Given the description of an element on the screen output the (x, y) to click on. 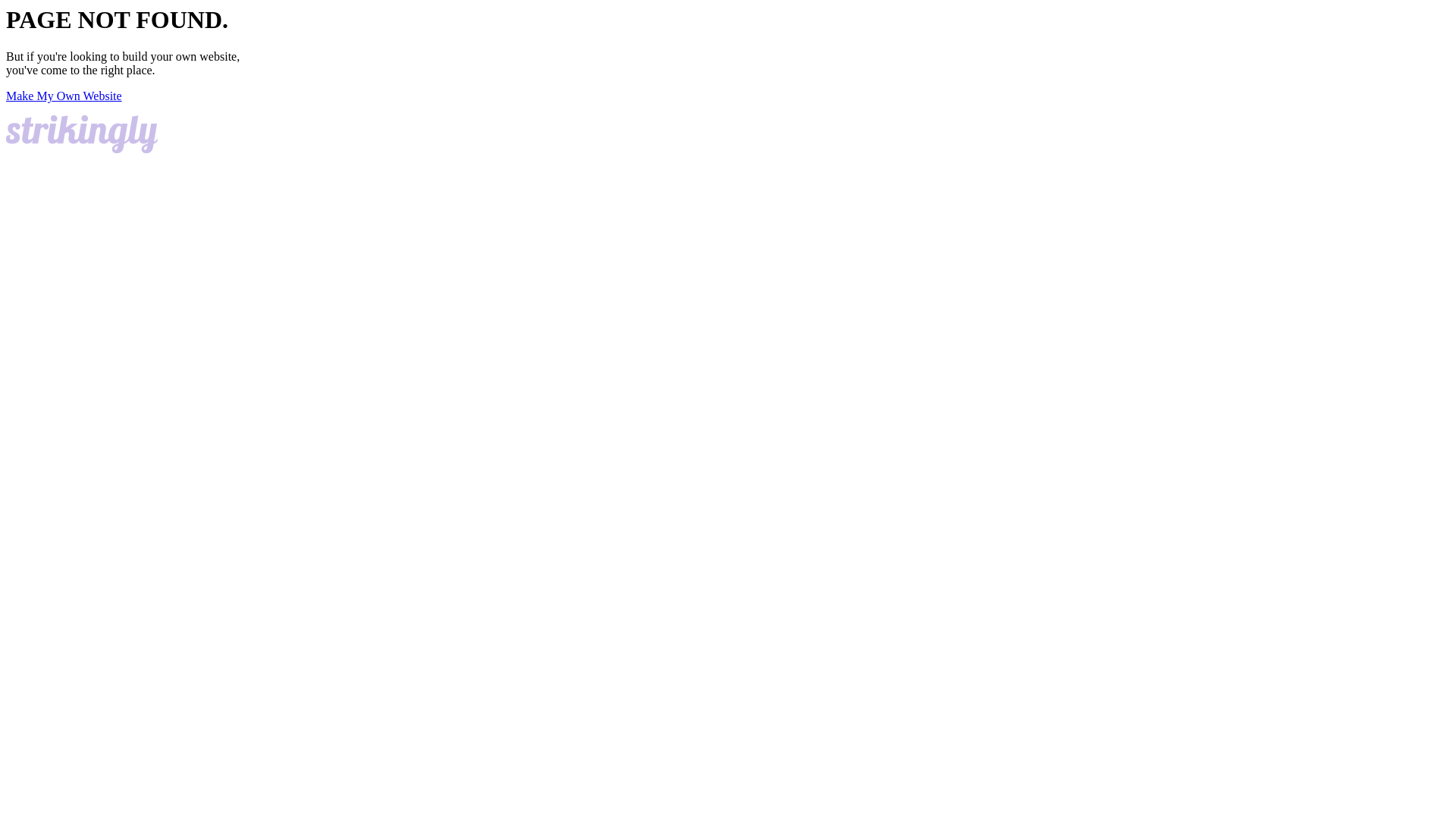
Make My Own Website Element type: text (64, 95)
